Given the description of an element on the screen output the (x, y) to click on. 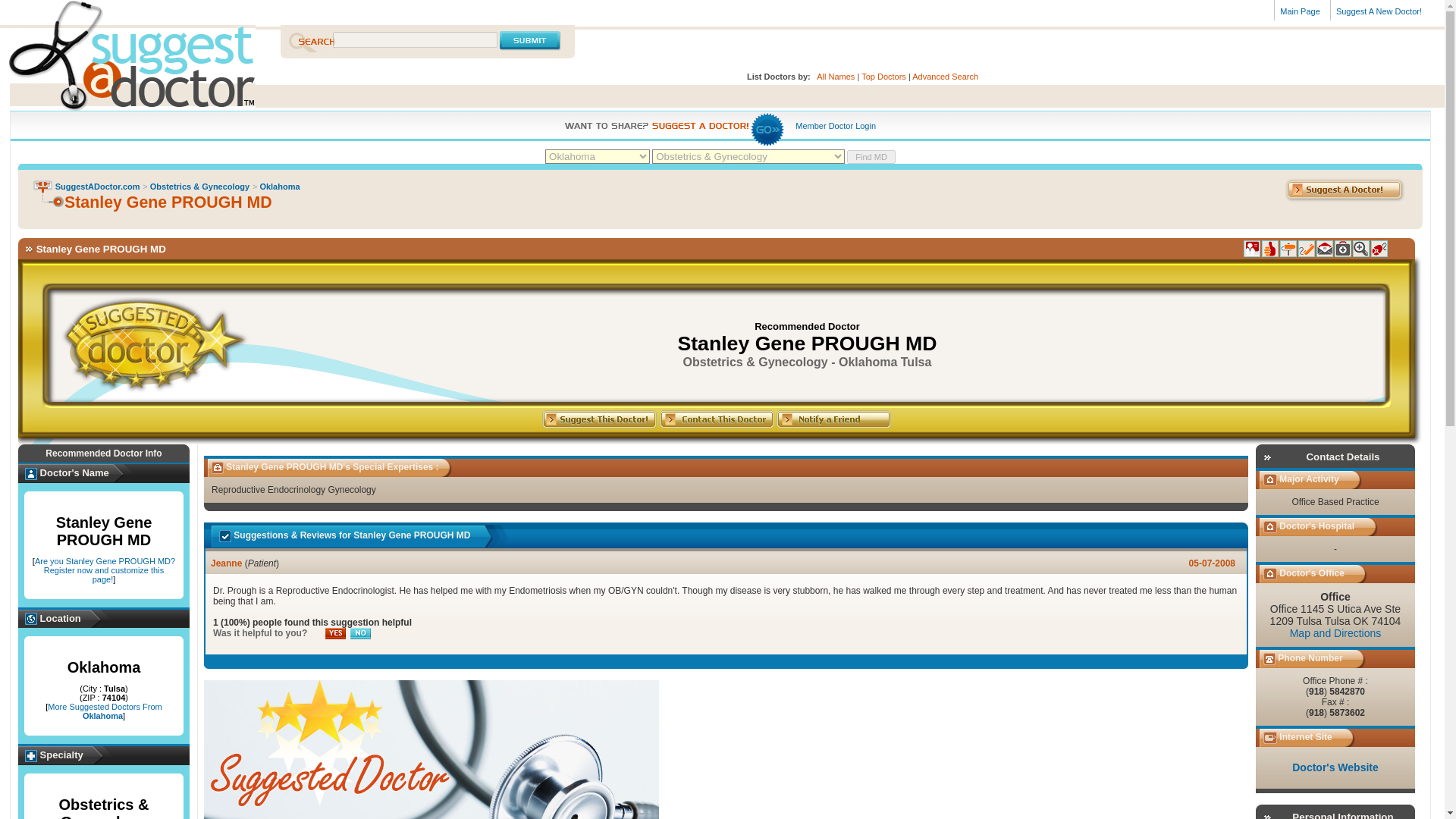
SuggestADoctor.com (128, 67)
Go Back (42, 186)
Registered Site Member (1251, 248)
Main Page (1300, 10)
Advanced Search (945, 76)
 Find MD  (871, 156)
Top Doctors (883, 76)
Has Personal Website (1379, 248)
Suggest A New Doctor! (1379, 10)
Map and Directions (1335, 633)
Phone Numbers Available (1306, 248)
Oklahoma (279, 185)
Member Doctor Login (835, 125)
Reload this Page (48, 200)
